Given the description of an element on the screen output the (x, y) to click on. 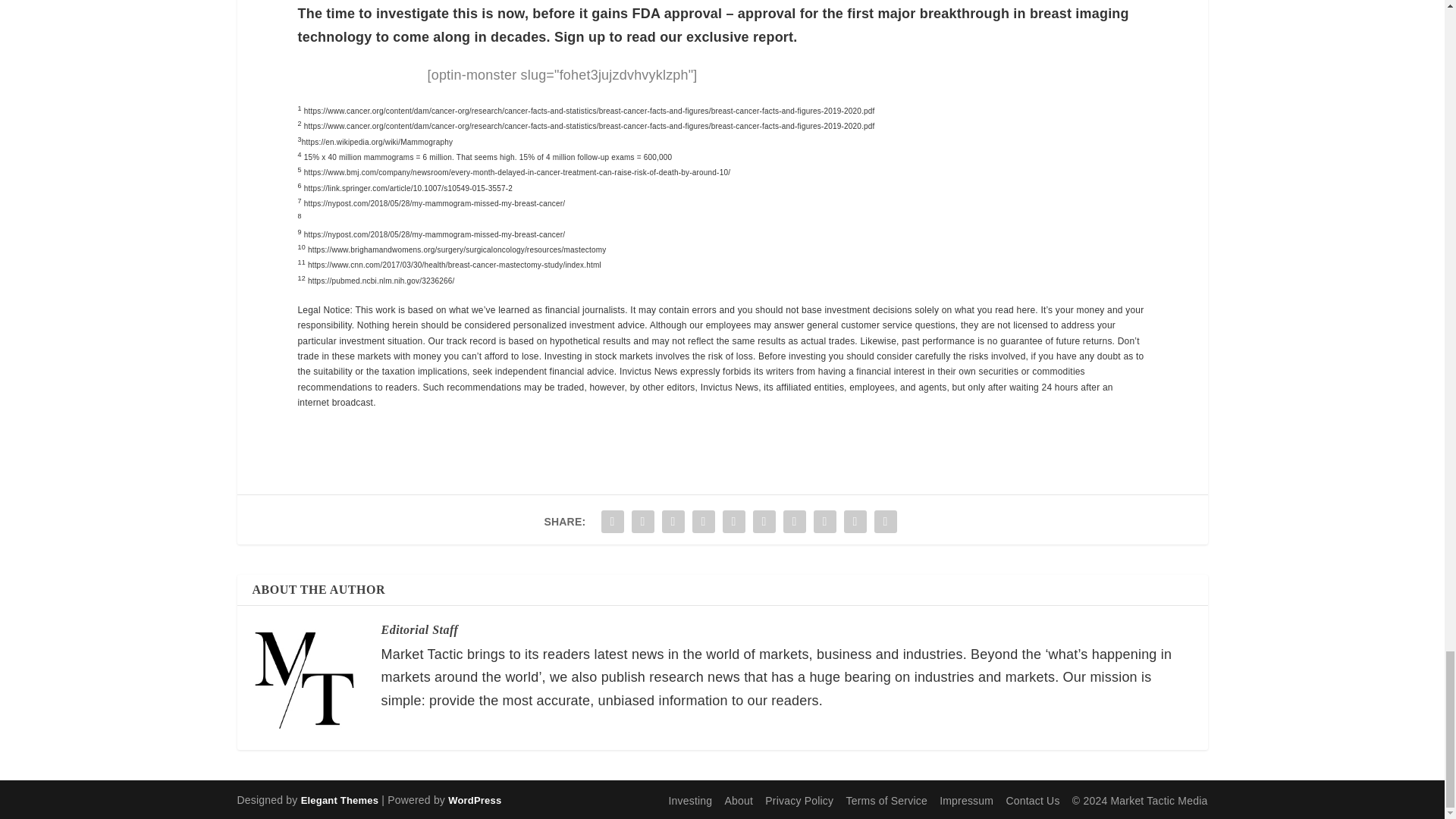
Privacy Policy (798, 800)
Investing (689, 800)
Editorial Staff (419, 629)
View all posts by Editorial Staff (419, 629)
About (739, 800)
